Given the description of an element on the screen output the (x, y) to click on. 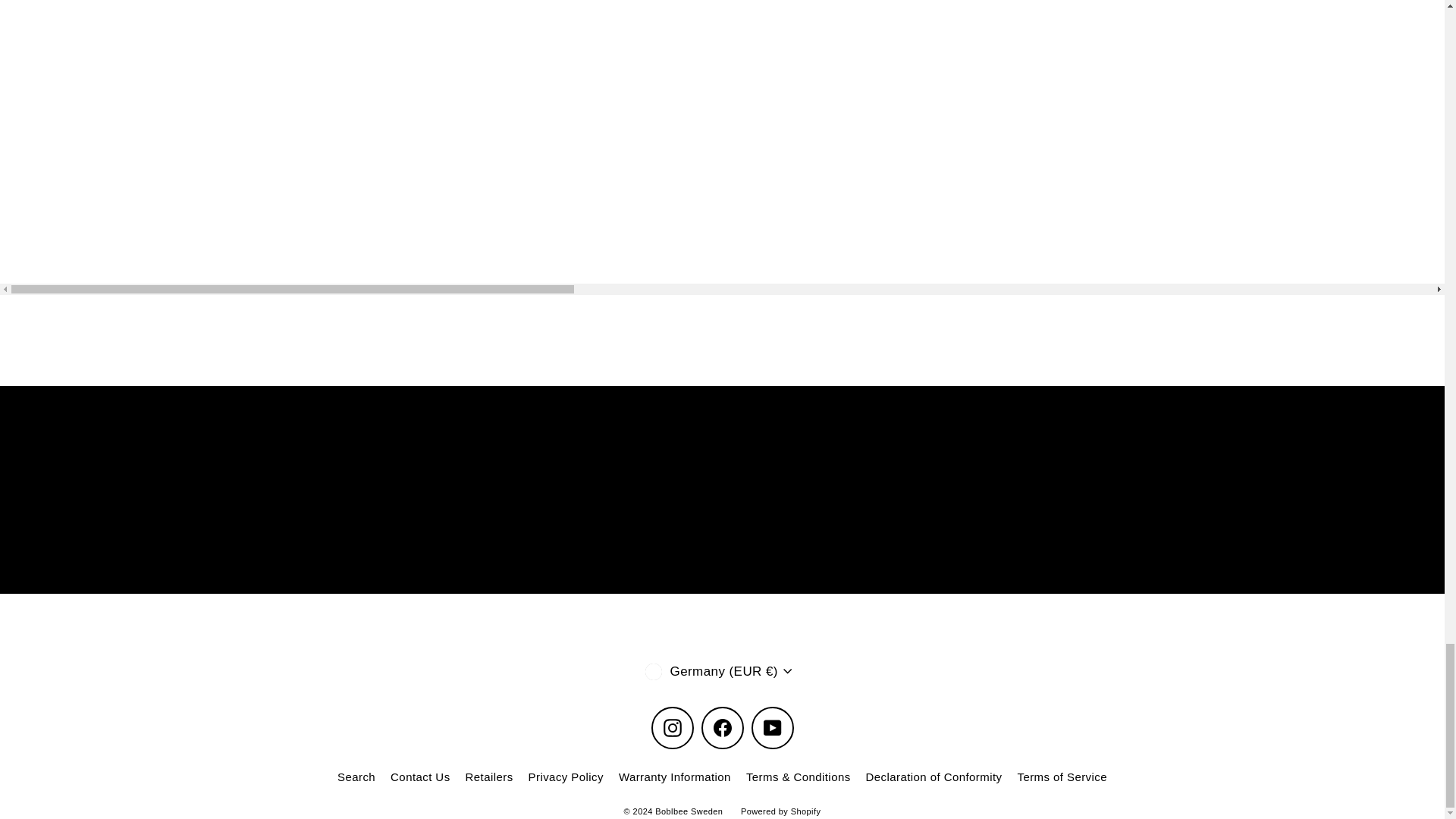
Boblbee Sweden on Instagram (671, 727)
Boblbee Sweden on Facebook (721, 727)
instagram (671, 728)
Boblbee Sweden on YouTube (772, 727)
